Given the description of an element on the screen output the (x, y) to click on. 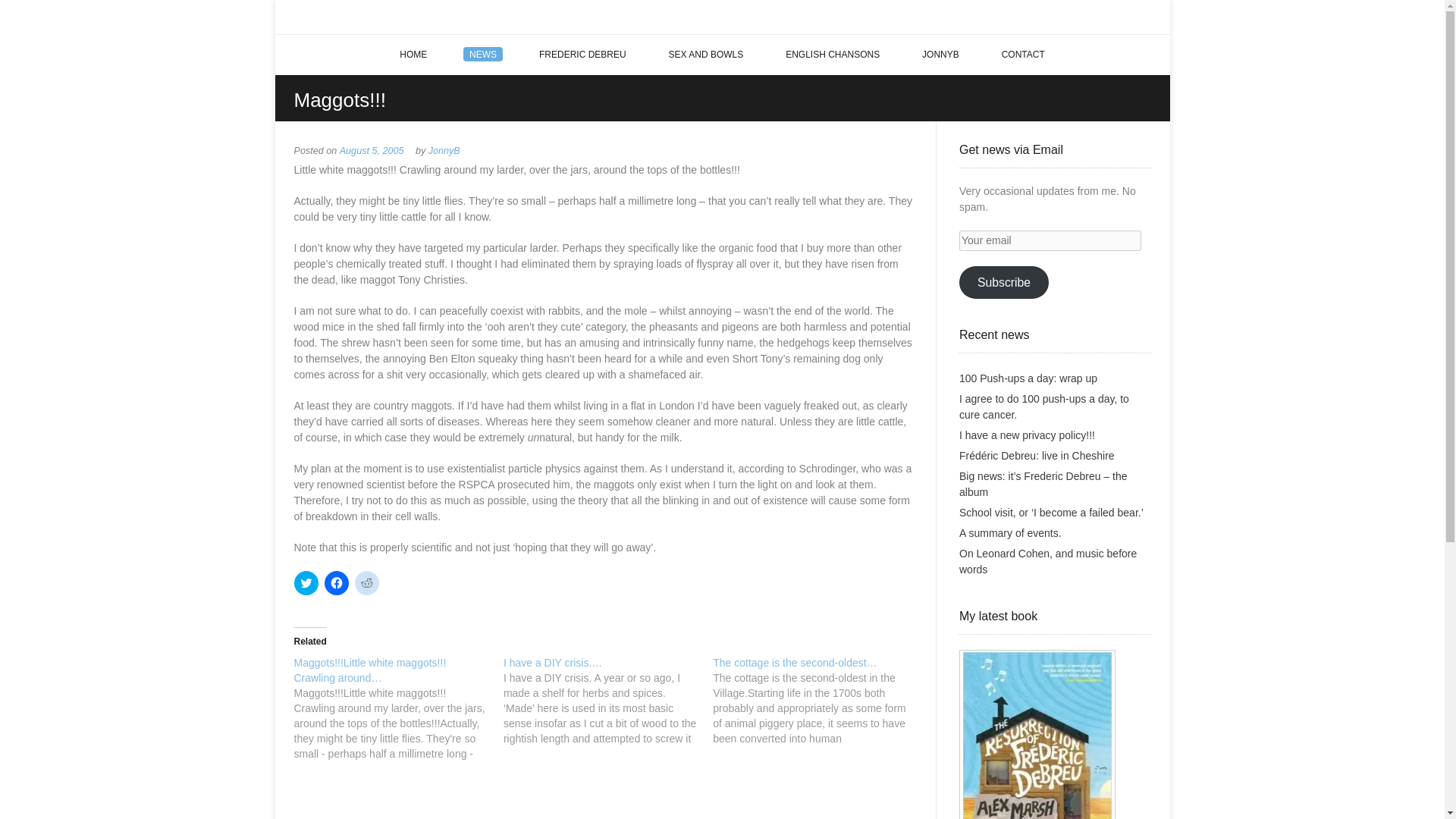
HOME (413, 54)
ENGLISH CHANSONS (832, 54)
I have a new privacy policy!!! (1026, 435)
Click to share on Facebook (336, 582)
On Leonard Cohen, and music before words (1048, 561)
A summary of events. (1010, 532)
CONTACT (1023, 54)
FREDERIC DEBREU (582, 54)
Click to share on Twitter (306, 582)
I agree to do 100 push-ups a day, to cure cancer. (1044, 406)
